Given the description of an element on the screen output the (x, y) to click on. 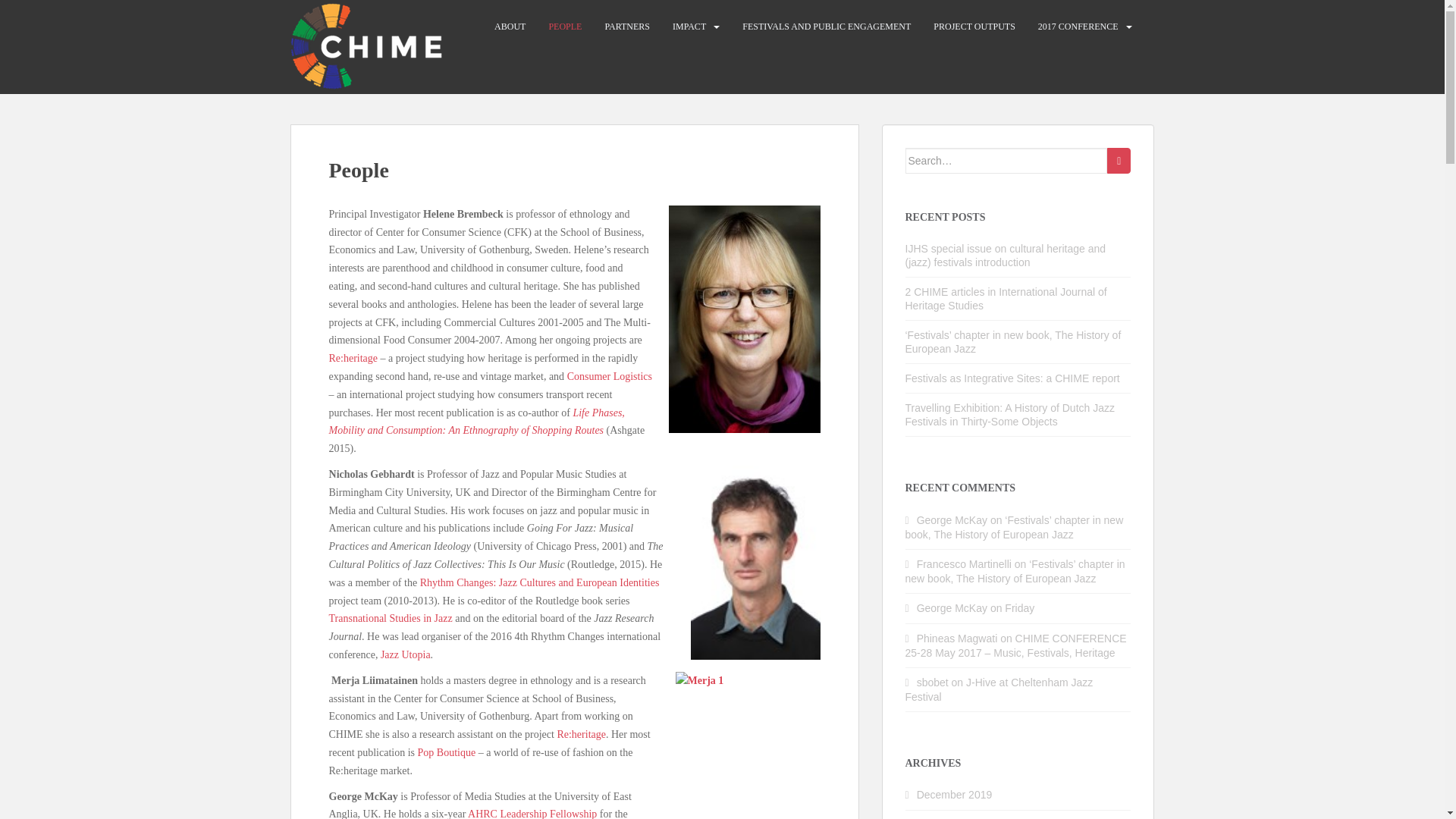
Rhythm Changes: Jazz Cultures and European Identities (539, 582)
AHRC Fellowship (531, 813)
Pop Boutique (446, 752)
IMPACT (689, 26)
FESTIVALS AND PUBLIC ENGAGEMENT (826, 26)
AHRC Leadership Fellowship (531, 813)
Jazz Utopia (405, 654)
PROJECT OUTPUTS (973, 26)
Transnational Studies in Jazz (390, 618)
Re:heritage (353, 357)
